Given the description of an element on the screen output the (x, y) to click on. 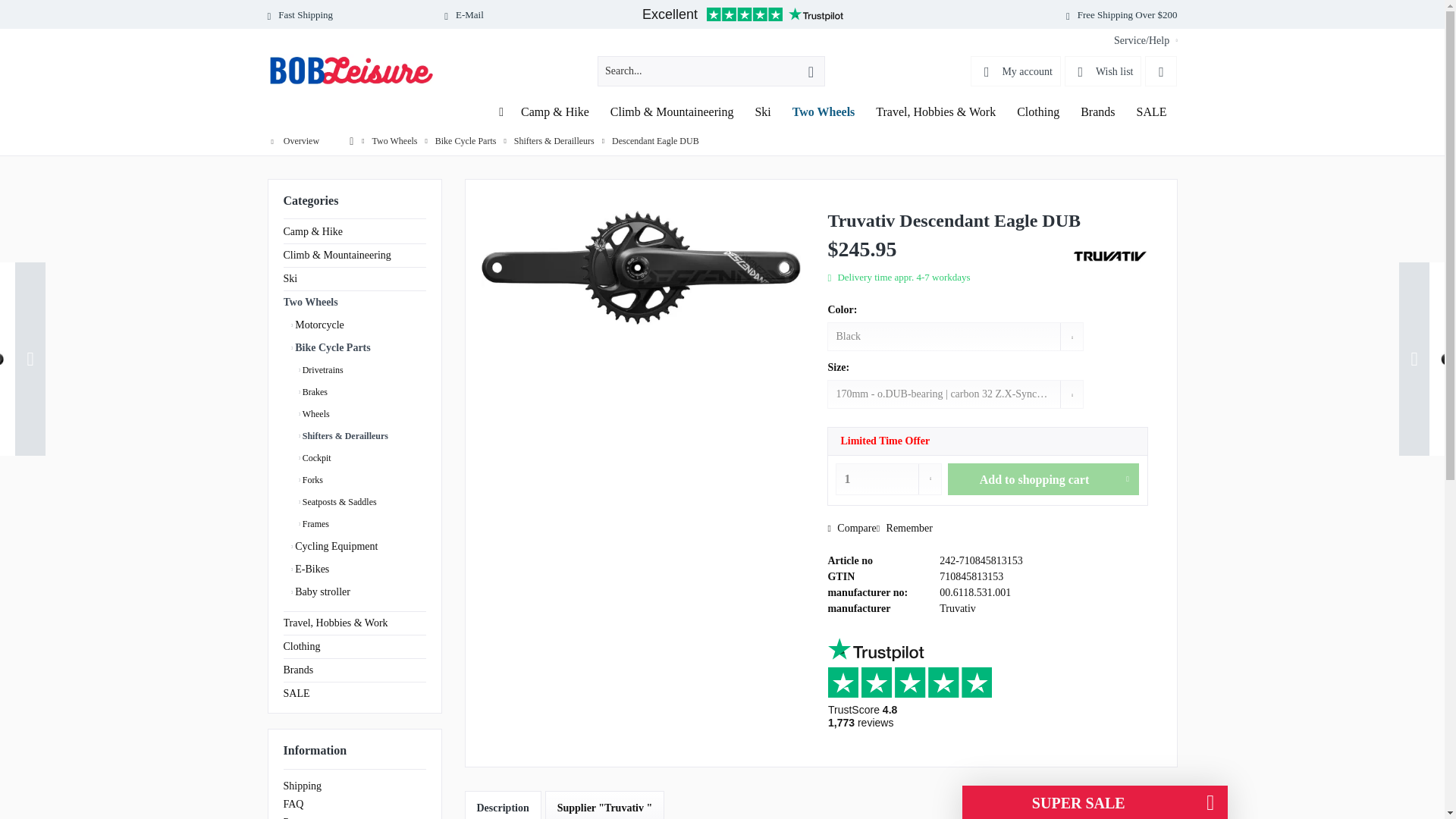
Brands (1097, 112)
Clothing (1038, 112)
SALE (1150, 112)
SALE (1150, 112)
My account (1015, 71)
Clothing (1038, 112)
Customer reviews powered by Trustpilot (742, 15)
Wish list (1102, 71)
Wish list (1102, 71)
Brands (1097, 112)
Two Wheels (823, 112)
Two Wheels (823, 112)
Two Wheels (823, 112)
Clothing (1038, 112)
Brands (1097, 112)
